Given the description of an element on the screen output the (x, y) to click on. 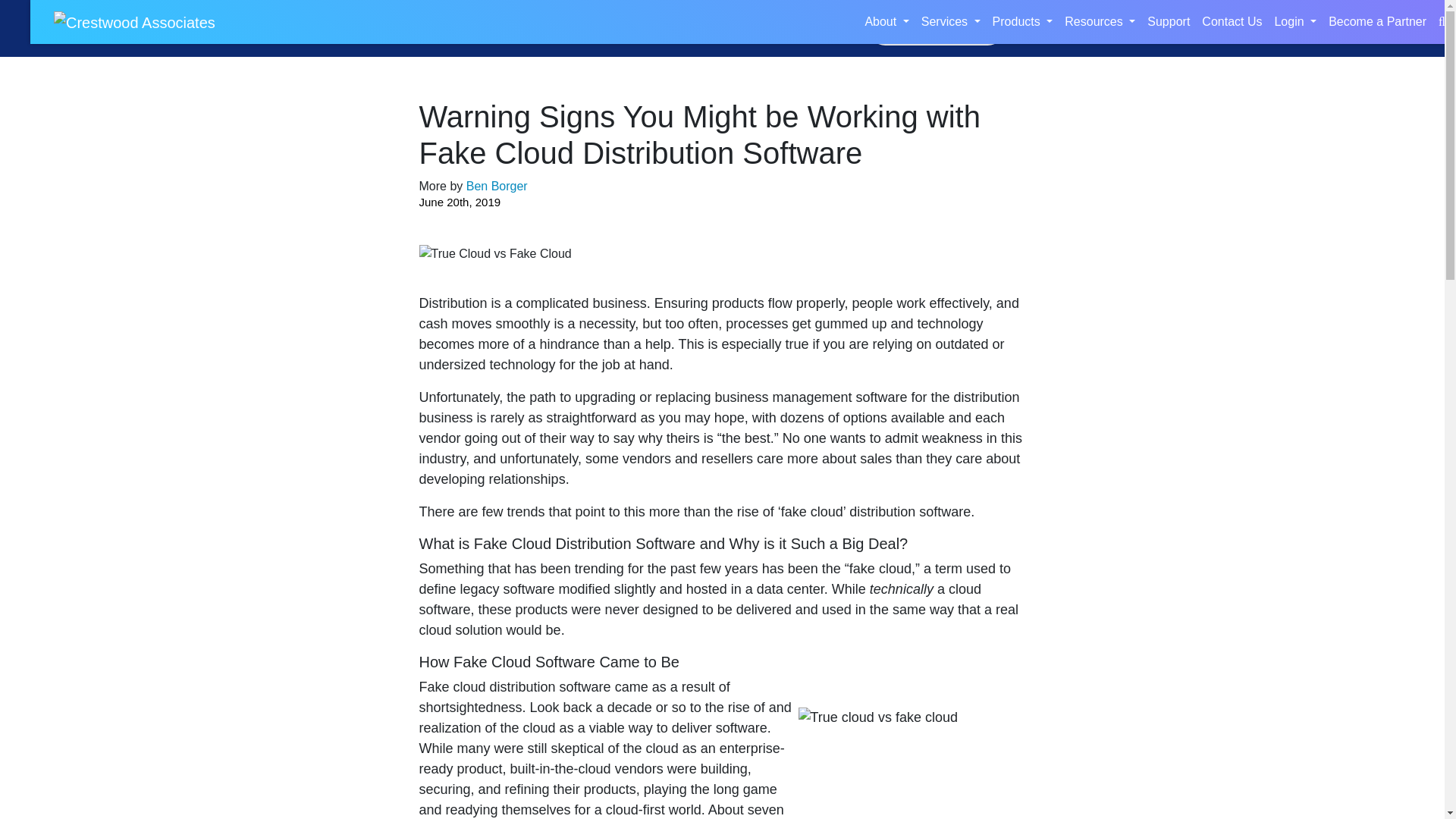
About (886, 21)
Support (1168, 21)
Login (1295, 21)
About (886, 21)
Services (951, 21)
Products (1023, 21)
Learn how! (935, 28)
Resources (1099, 21)
Services (951, 21)
Contact Us (1231, 21)
